Given the description of an element on the screen output the (x, y) to click on. 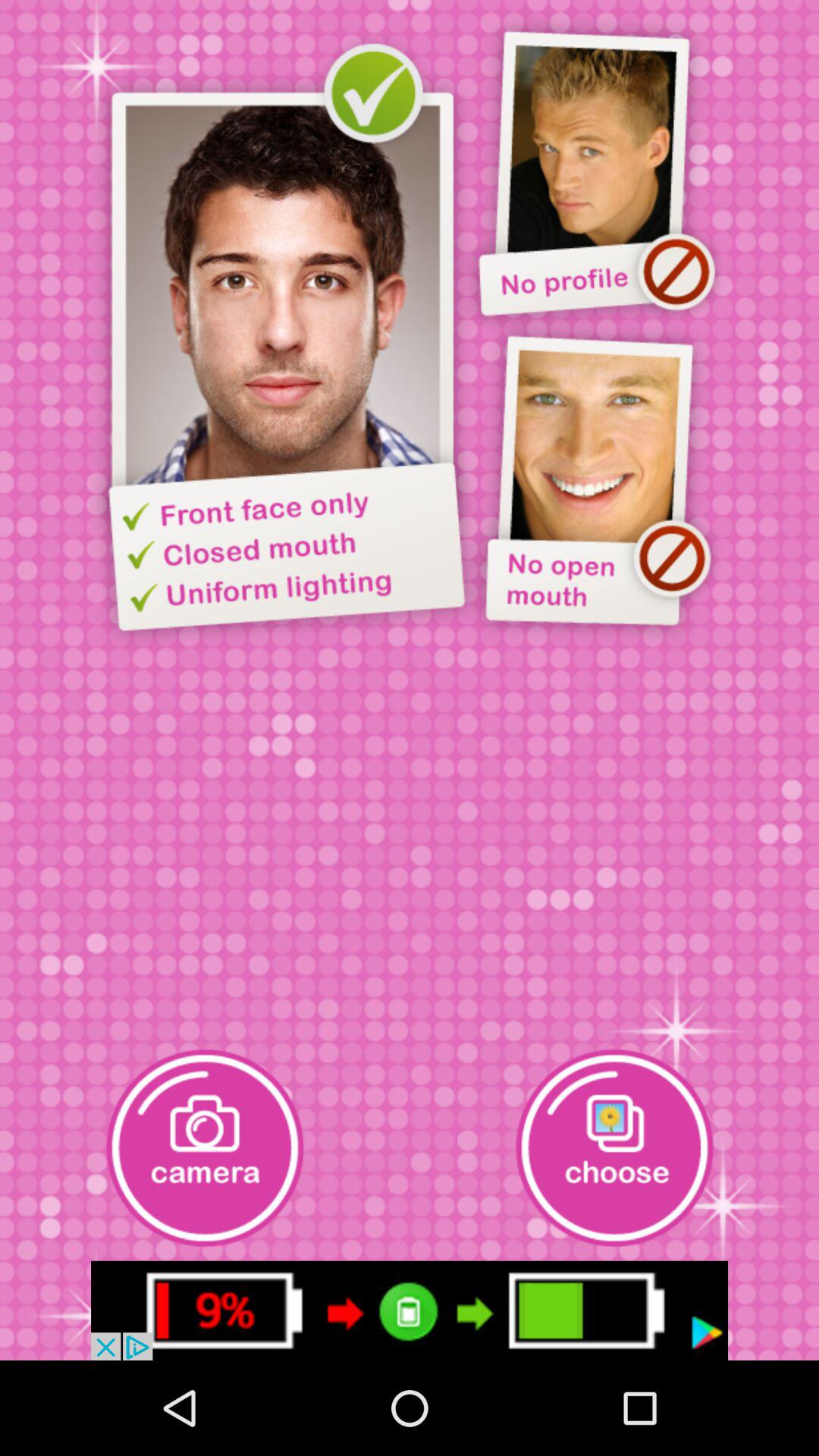
camera button (204, 1147)
